Given the description of an element on the screen output the (x, y) to click on. 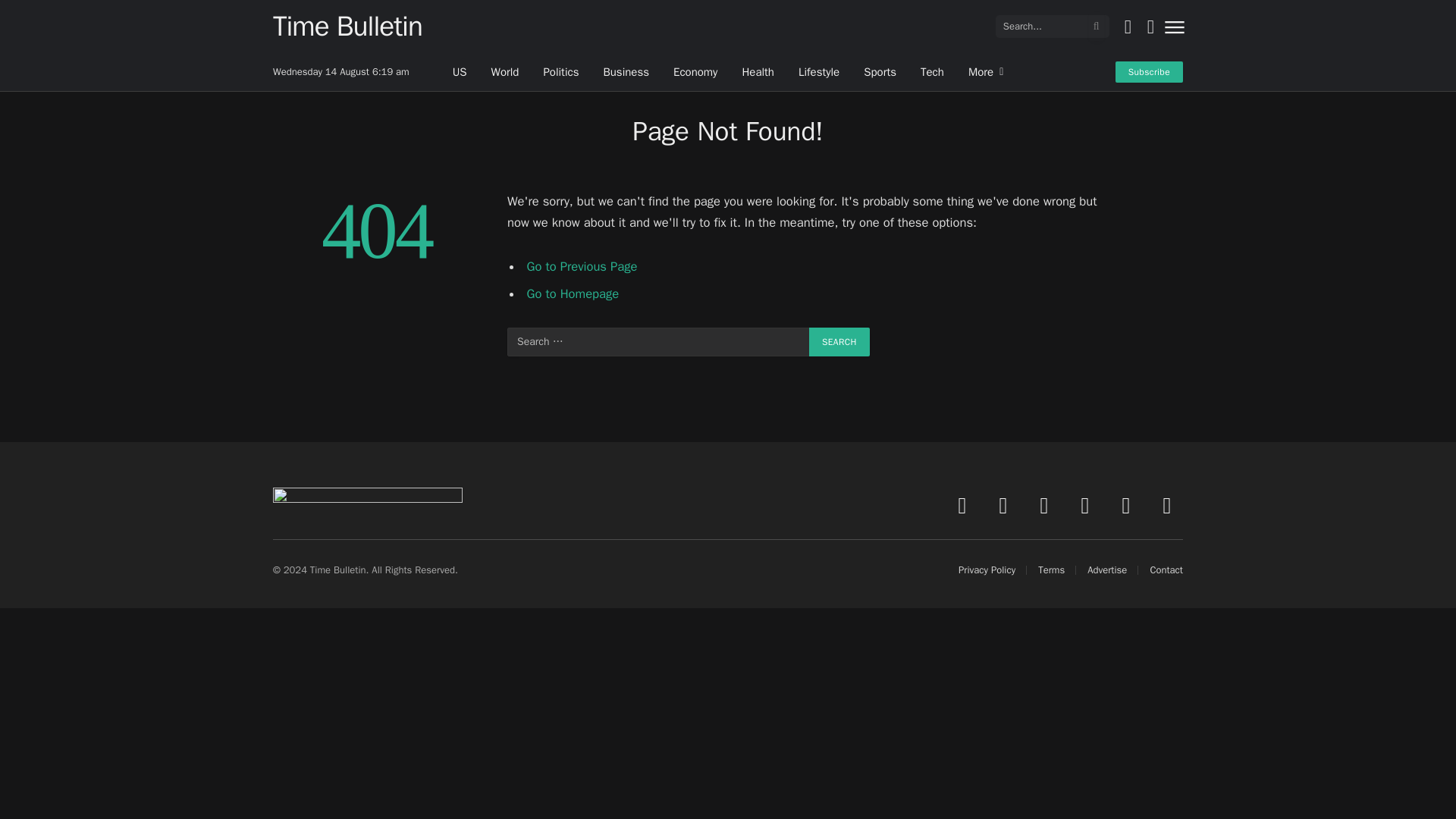
Economy (695, 71)
US (460, 71)
Politics (561, 71)
Business (626, 71)
Search (839, 341)
Lifestyle (818, 71)
Tech (932, 71)
Switch to Light Design. (1127, 26)
Time Bulletin (347, 25)
More (985, 71)
